Given the description of an element on the screen output the (x, y) to click on. 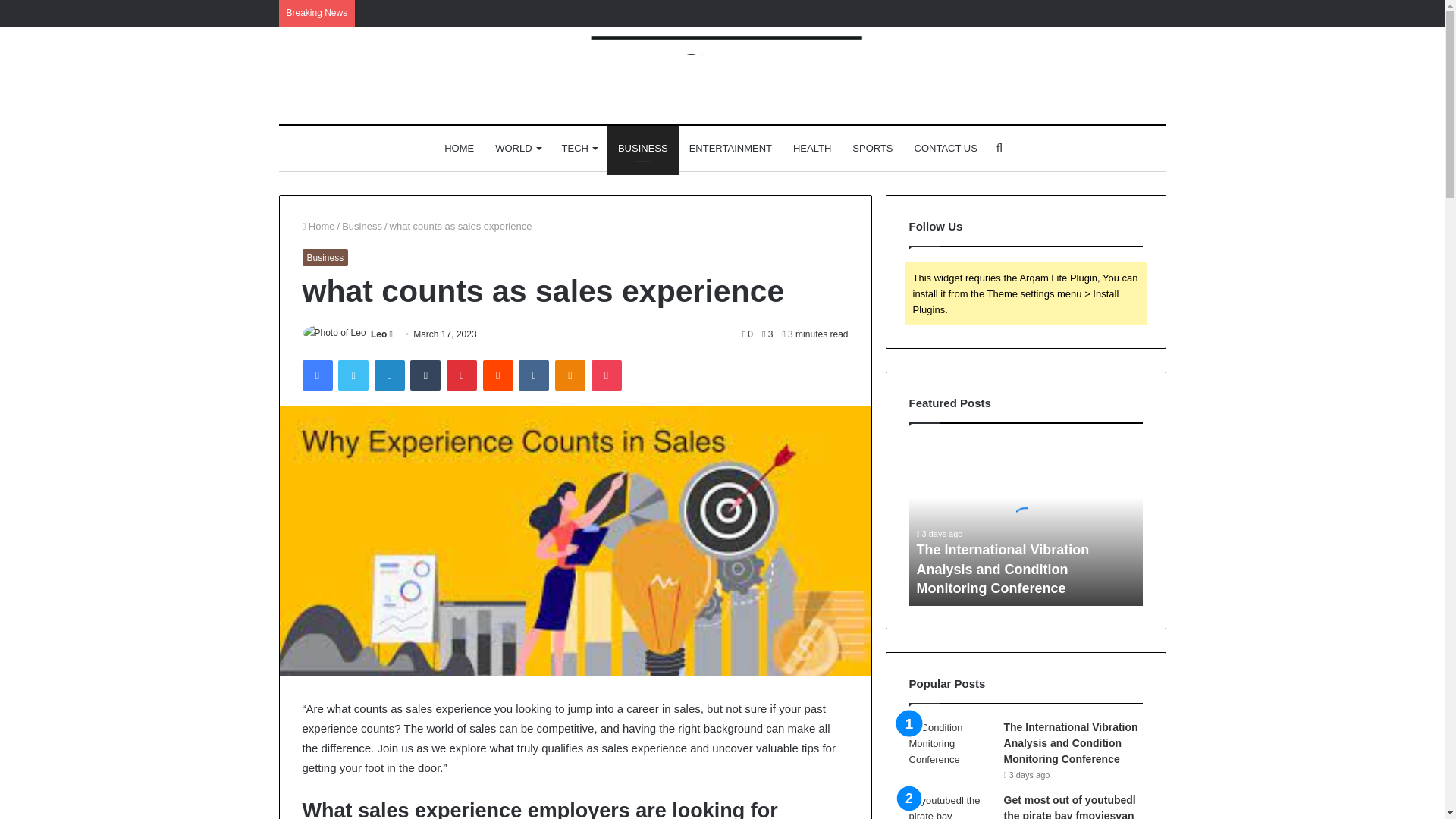
Leo (379, 334)
BUSINESS (642, 148)
NewsiPedia (721, 74)
Pocket (606, 375)
Pinterest (461, 375)
ENTERTAINMENT (730, 148)
VKontakte (533, 375)
Reddit (498, 375)
Leo (379, 334)
LinkedIn (389, 375)
